Given the description of an element on the screen output the (x, y) to click on. 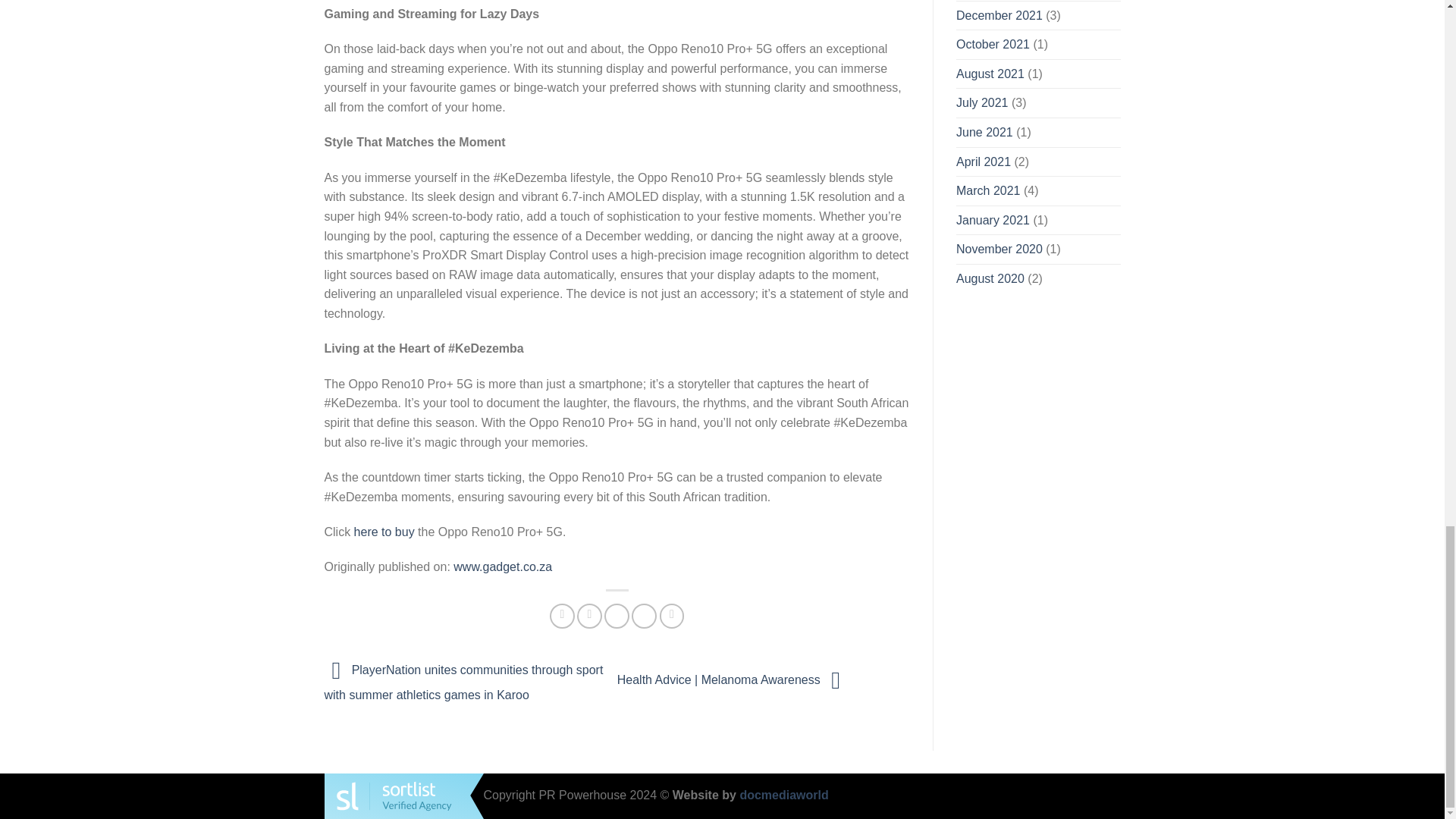
Share on Facebook (562, 615)
Pin on Pinterest (643, 615)
Share on LinkedIn (671, 615)
Share on Twitter (589, 615)
here to buy (383, 531)
www.gadget.co.za (501, 566)
Email to a Friend (616, 615)
